Given the description of an element on the screen output the (x, y) to click on. 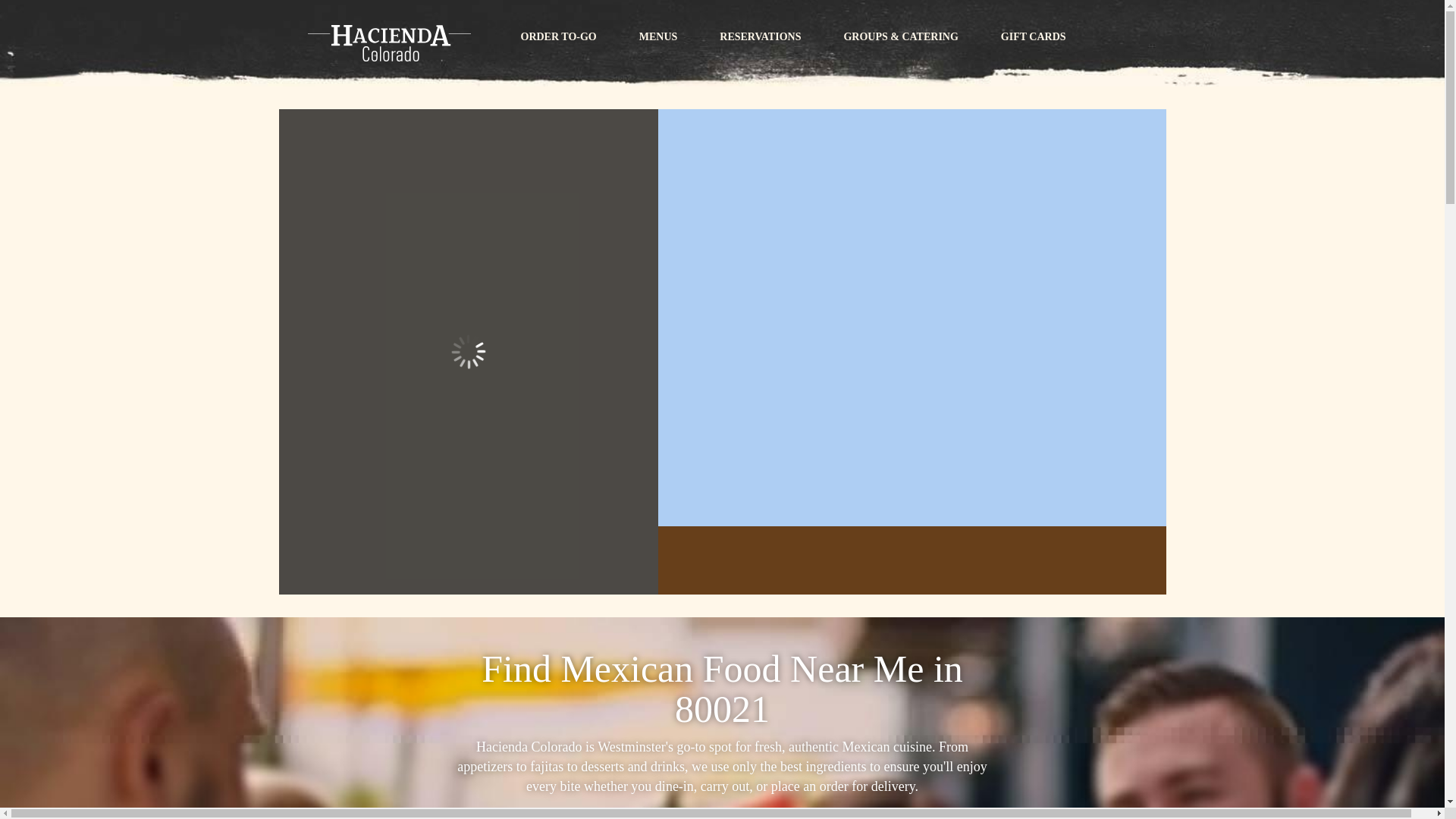
ORDER TO-GO (558, 36)
RESERVATIONS (760, 36)
GIFT CARDS (1033, 36)
MENUS (657, 36)
